Given the description of an element on the screen output the (x, y) to click on. 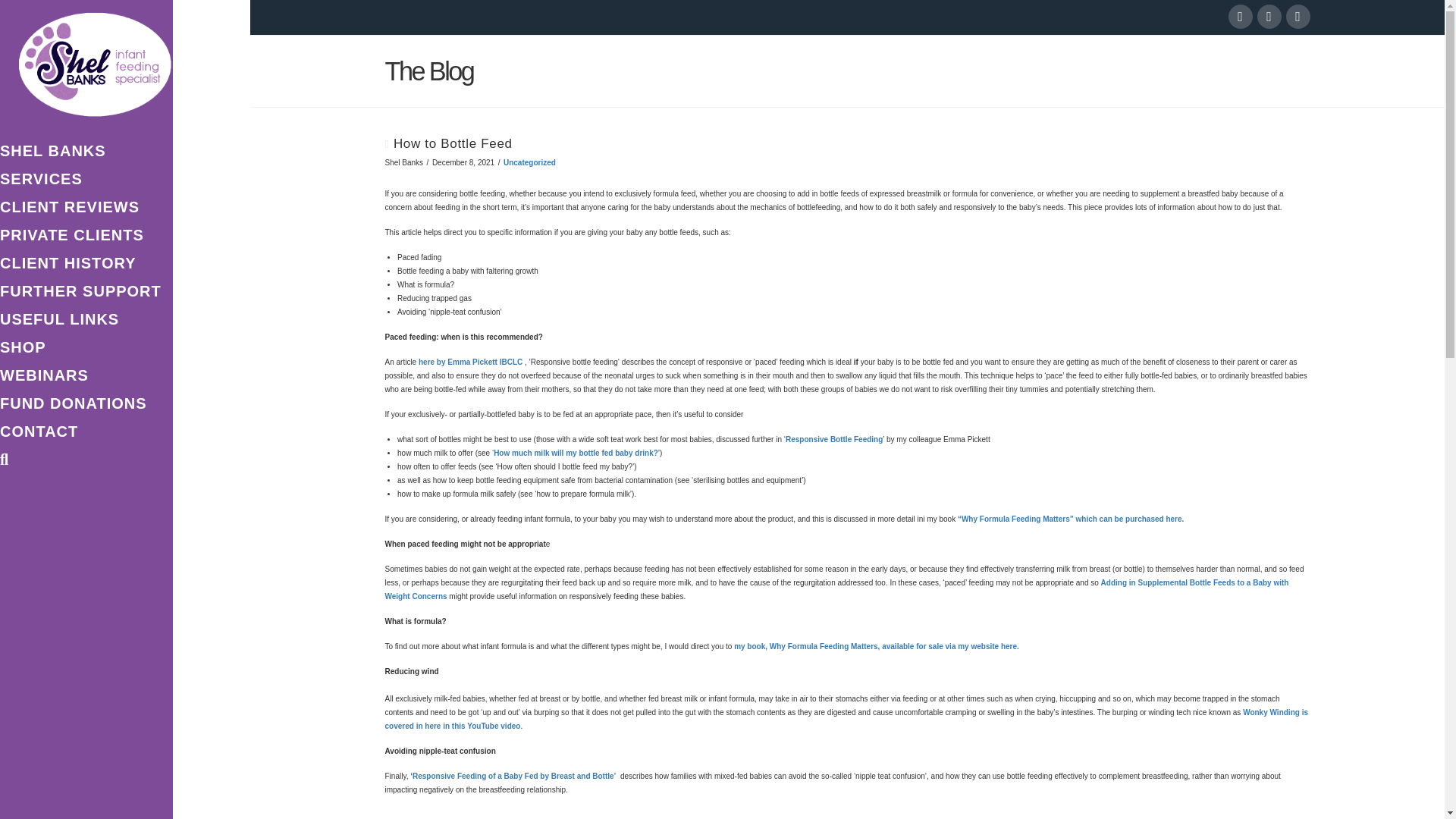
Wonky Winding is covered in here in this YouTube video (846, 719)
Uncategorized (529, 162)
Instagram (1297, 16)
SHEL BANKS (86, 152)
How much milk will my bottle fed baby drink? (575, 452)
CLIENT REVIEWS (86, 208)
Facebook (1240, 16)
WEBINARS (86, 377)
FURTHER SUPPORT (86, 293)
here by Emma Pickett IBCLC (470, 361)
Twitter (1269, 16)
USEFUL LINKS (86, 320)
SERVICES (86, 180)
